Given the description of an element on the screen output the (x, y) to click on. 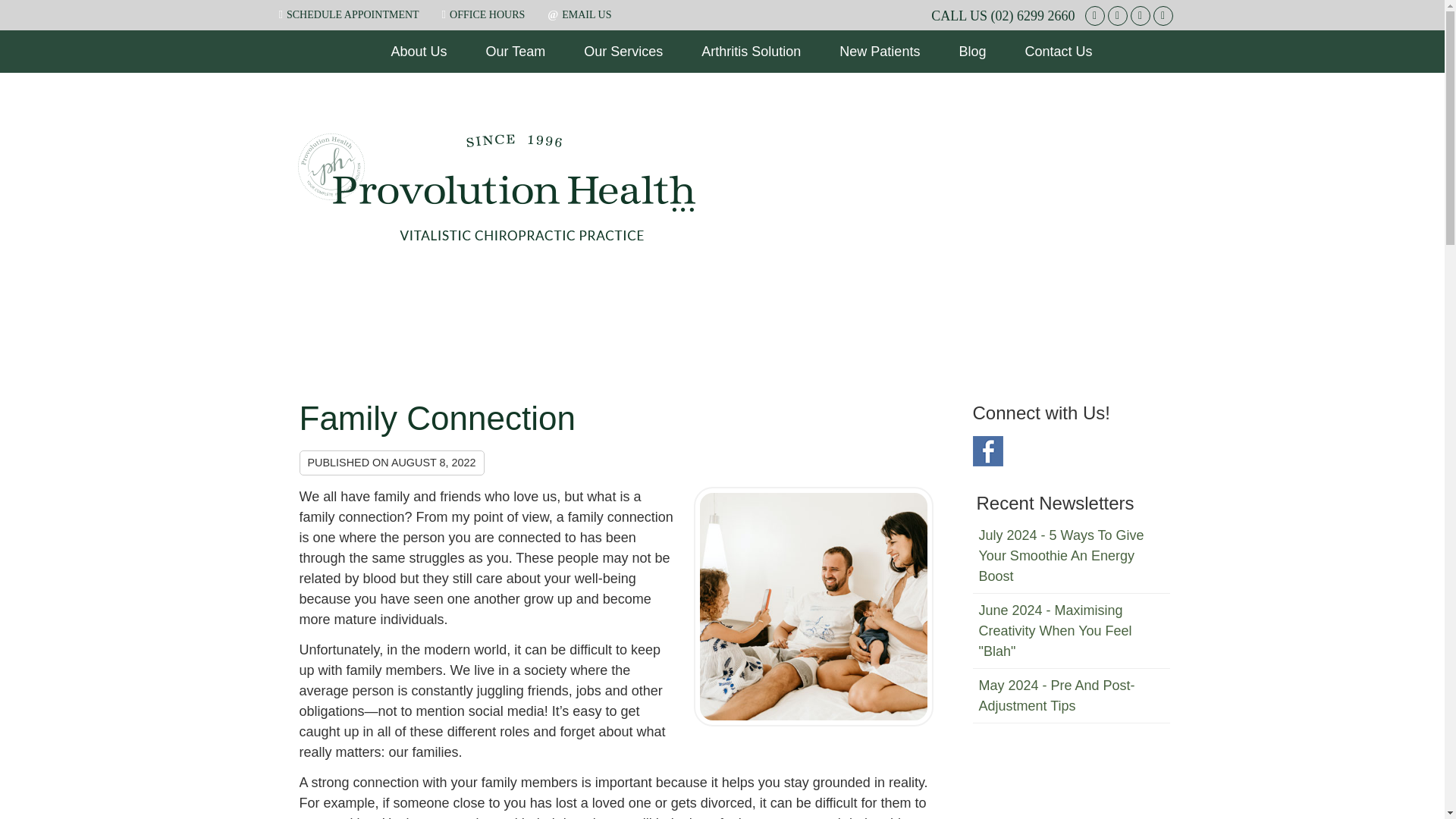
Our Services (623, 51)
Facebook Social Button (1093, 14)
Our Team (516, 51)
Provolution Health (496, 237)
Home (352, 51)
Youtube Social Button (1161, 14)
Contact (579, 14)
Arthritis Solution (751, 51)
New Patients (880, 51)
SCHEDULE APPOINTMENT (348, 14)
